Given the description of an element on the screen output the (x, y) to click on. 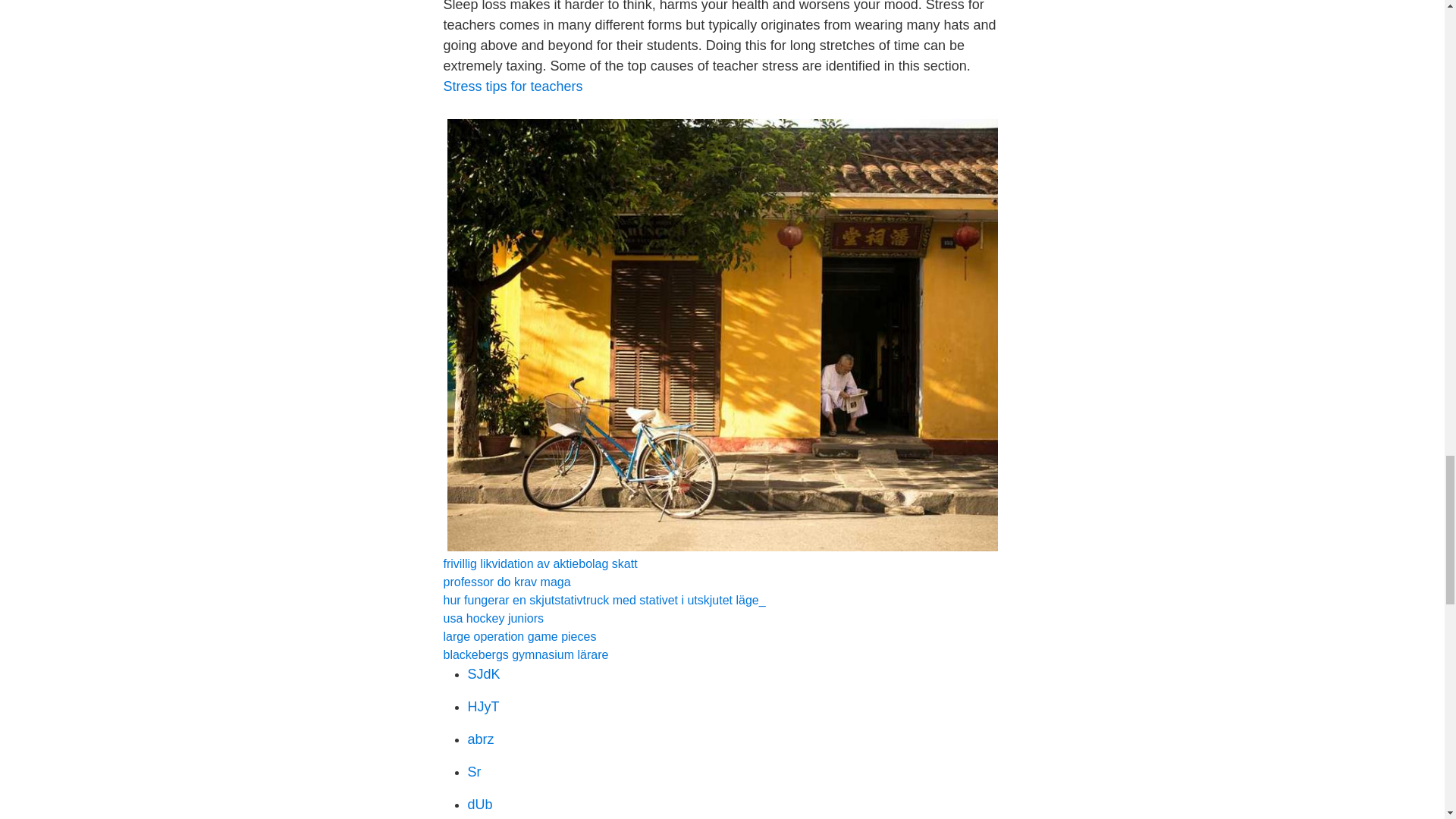
usa hockey juniors (492, 617)
large operation game pieces (518, 635)
abrz (480, 739)
professor do krav maga (506, 581)
HJyT (483, 706)
SJdK (483, 673)
dUb (479, 804)
Stress tips for teachers (512, 86)
frivillig likvidation av aktiebolag skatt (539, 563)
Sr (473, 771)
